Given the description of an element on the screen output the (x, y) to click on. 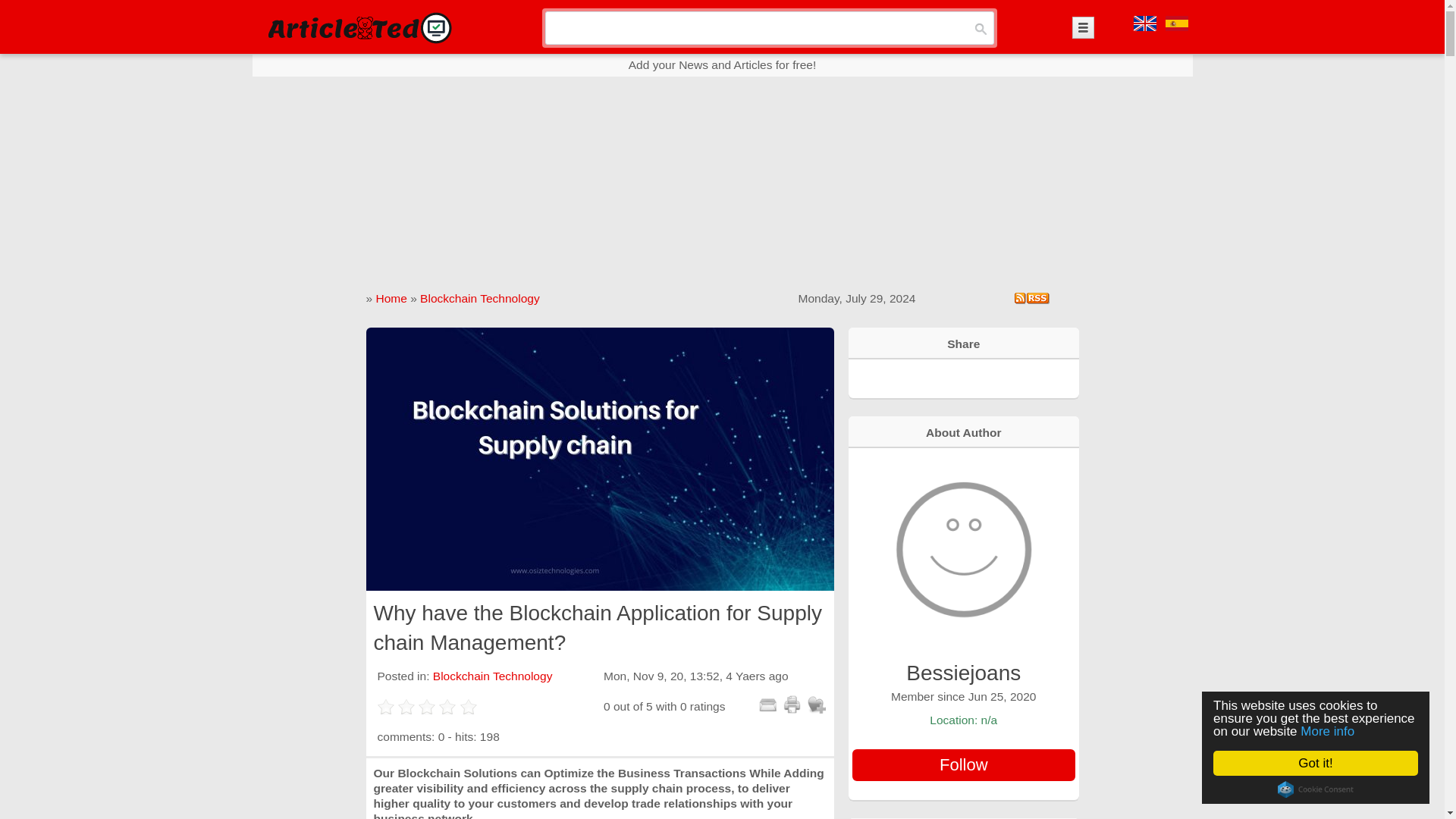
Blockchain Technology (492, 675)
Cookie Consent plugin for the EU cookie law (1316, 789)
Follow (963, 765)
Blockchain Technology (480, 297)
ArticleTed -  News and Articles (357, 27)
Got it! (1315, 763)
Home (390, 297)
More info (1328, 730)
